Given the description of an element on the screen output the (x, y) to click on. 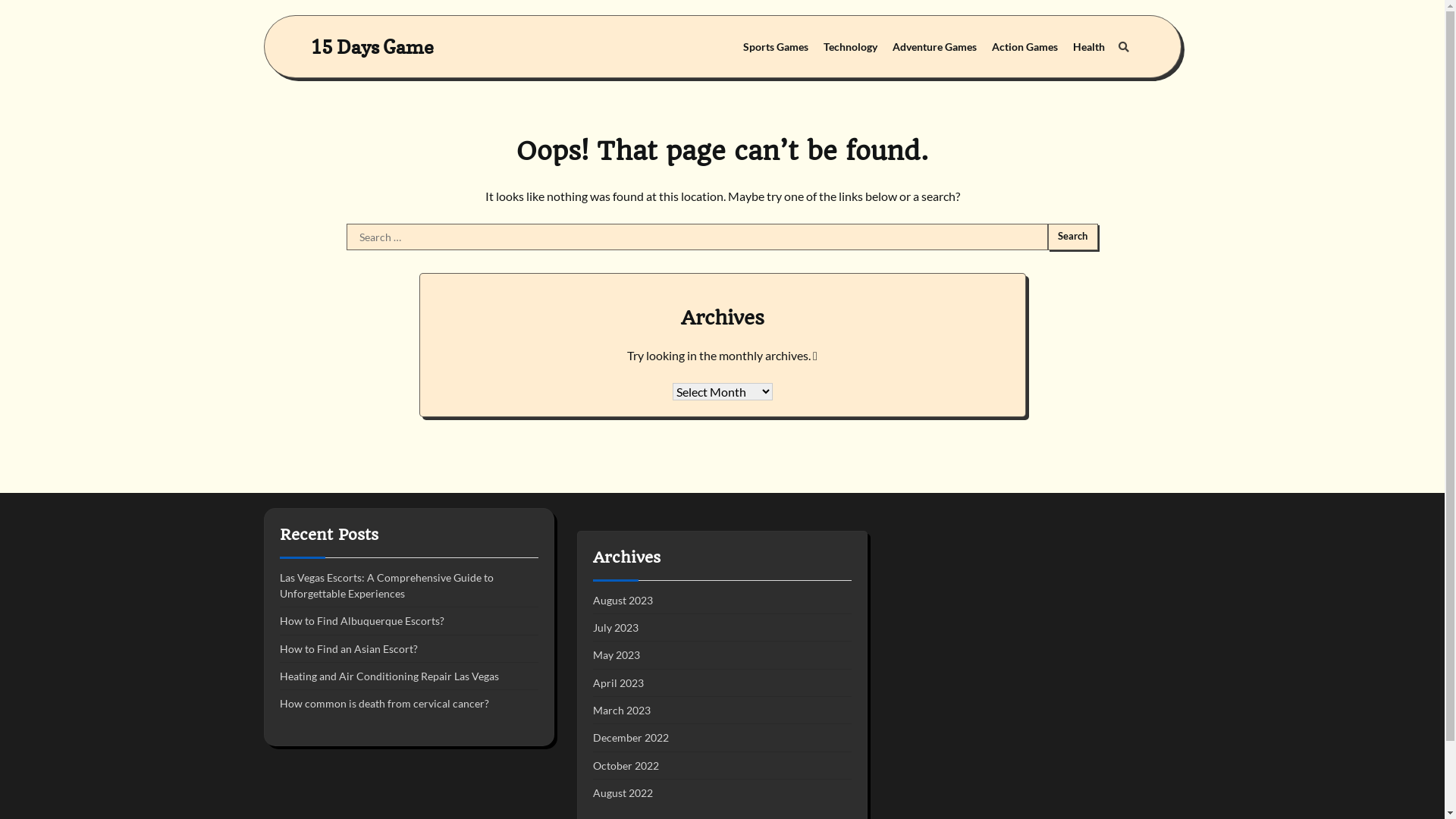
Search Element type: text (1073, 237)
Adventure Games Element type: text (933, 46)
March 2023 Element type: text (621, 709)
How to Find an Asian Escort? Element type: text (348, 648)
Search Element type: hover (1122, 46)
July 2023 Element type: text (615, 627)
December 2022 Element type: text (630, 737)
August 2023 Element type: text (622, 599)
Health Element type: text (1087, 46)
Search Element type: text (1088, 83)
Action Games Element type: text (1024, 46)
October 2022 Element type: text (625, 765)
Heating and Air Conditioning Repair Las Vegas Element type: text (388, 675)
How to Find Albuquerque Escorts? Element type: text (361, 620)
Technology Element type: text (849, 46)
August 2022 Element type: text (622, 792)
15 Days Game Element type: text (371, 46)
How common is death from cervical cancer? Element type: text (383, 702)
May 2023 Element type: text (616, 654)
Sports Games Element type: text (775, 46)
April 2023 Element type: text (618, 682)
